Given the description of an element on the screen output the (x, y) to click on. 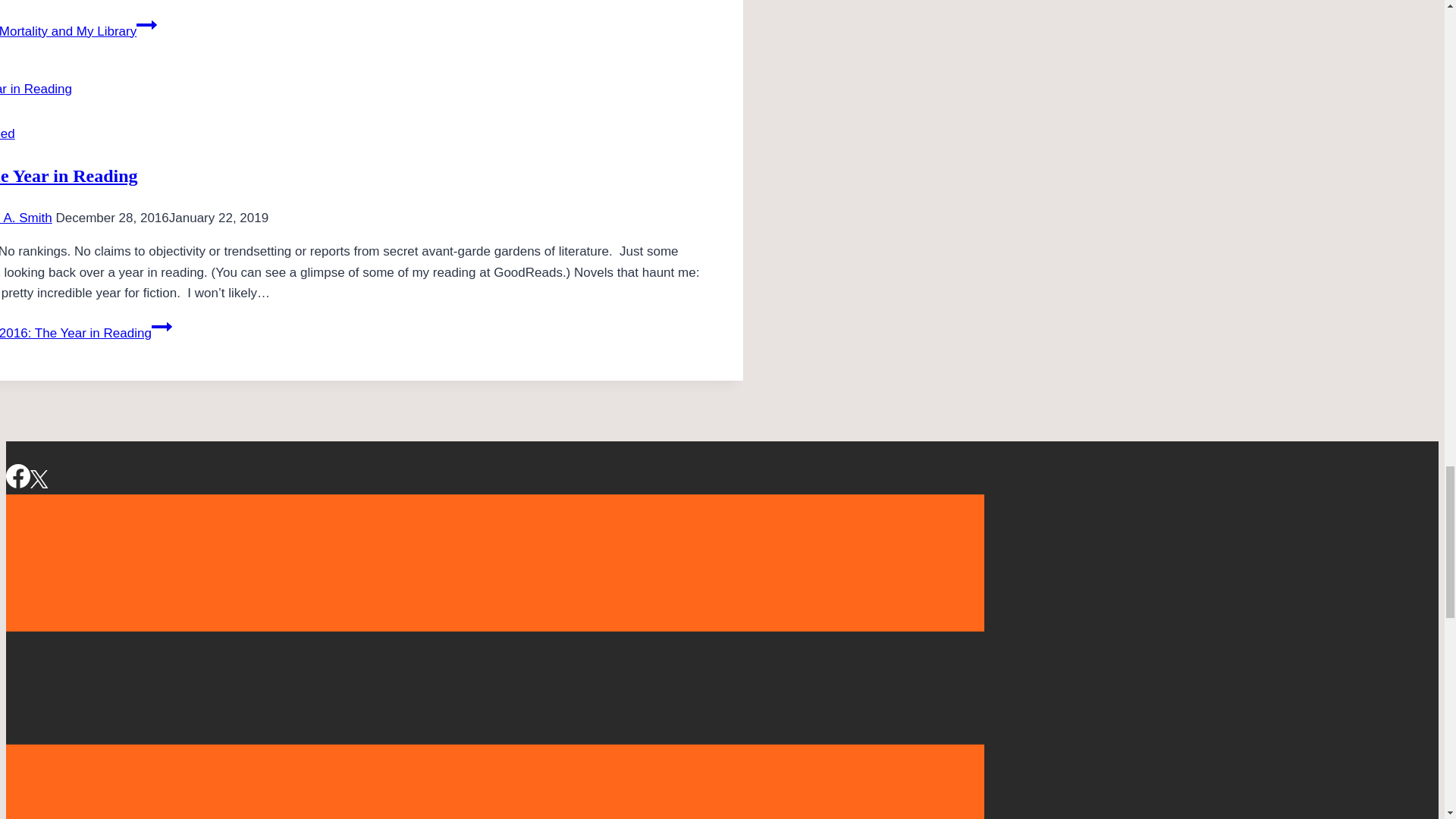
Continue (146, 25)
Continue (161, 326)
X (39, 479)
Facebook (17, 476)
